Given the description of an element on the screen output the (x, y) to click on. 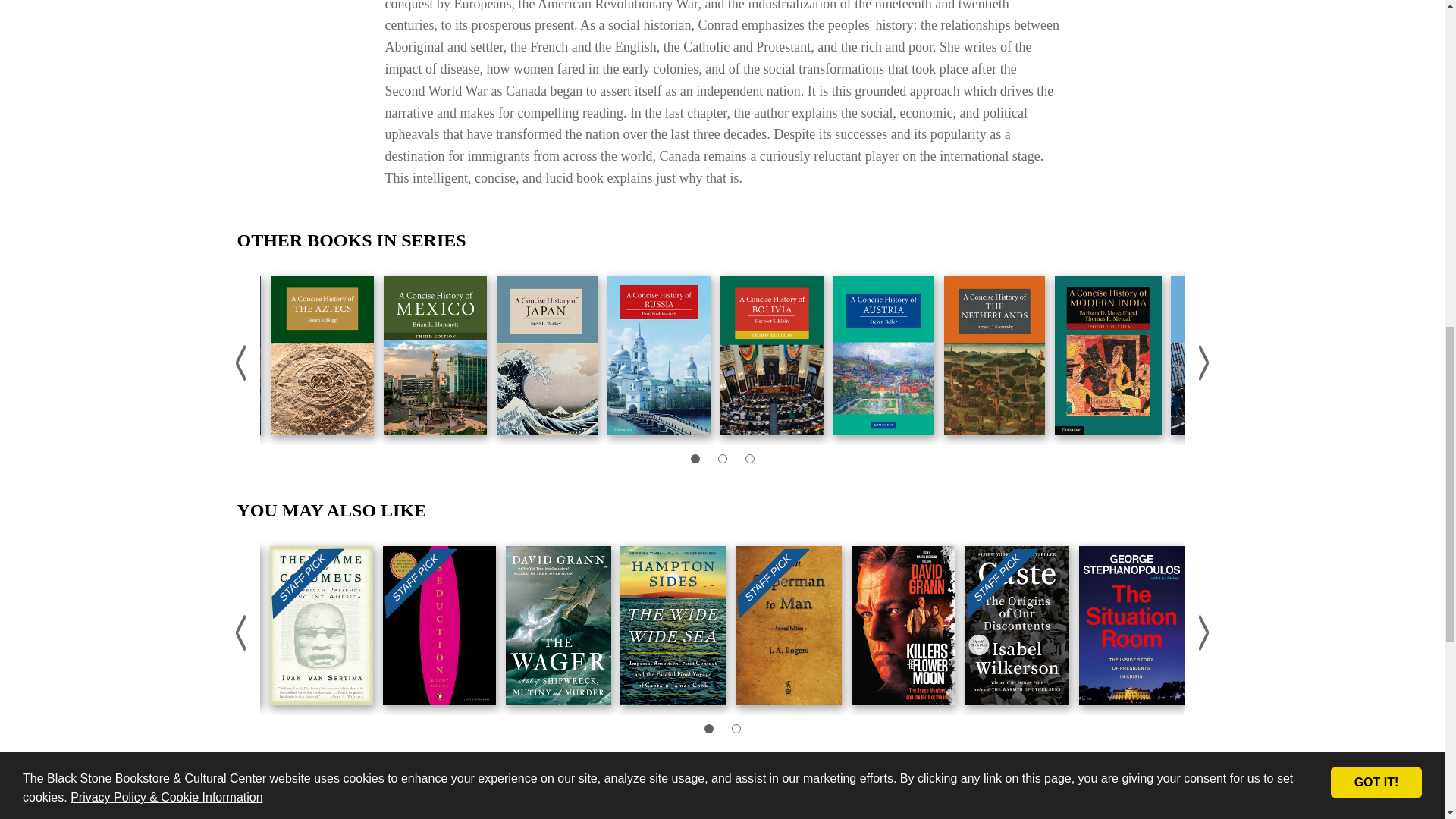
GOT IT! (1376, 59)
